Given the description of an element on the screen output the (x, y) to click on. 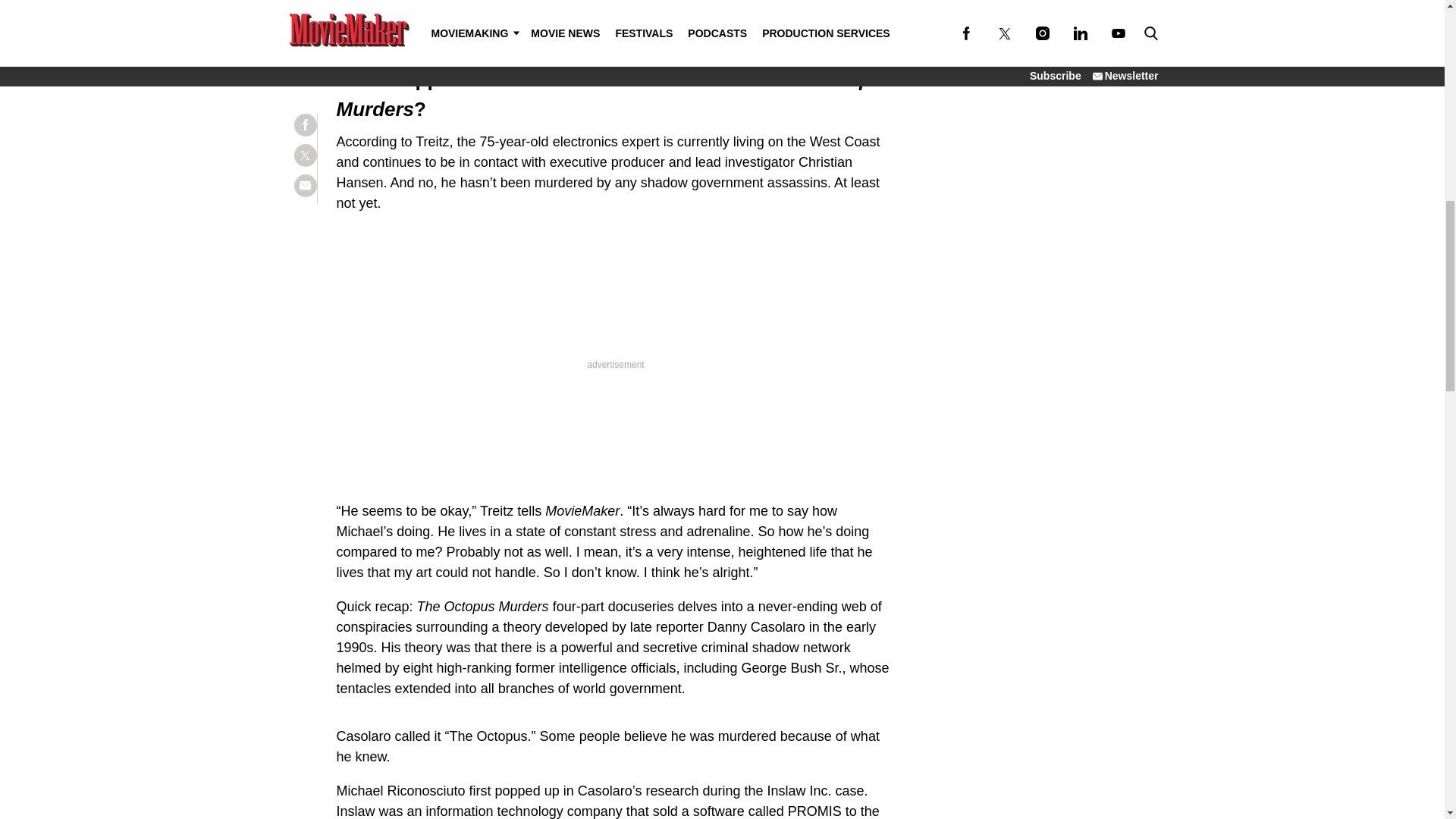
Share via Email (305, 2)
